Given the description of an element on the screen output the (x, y) to click on. 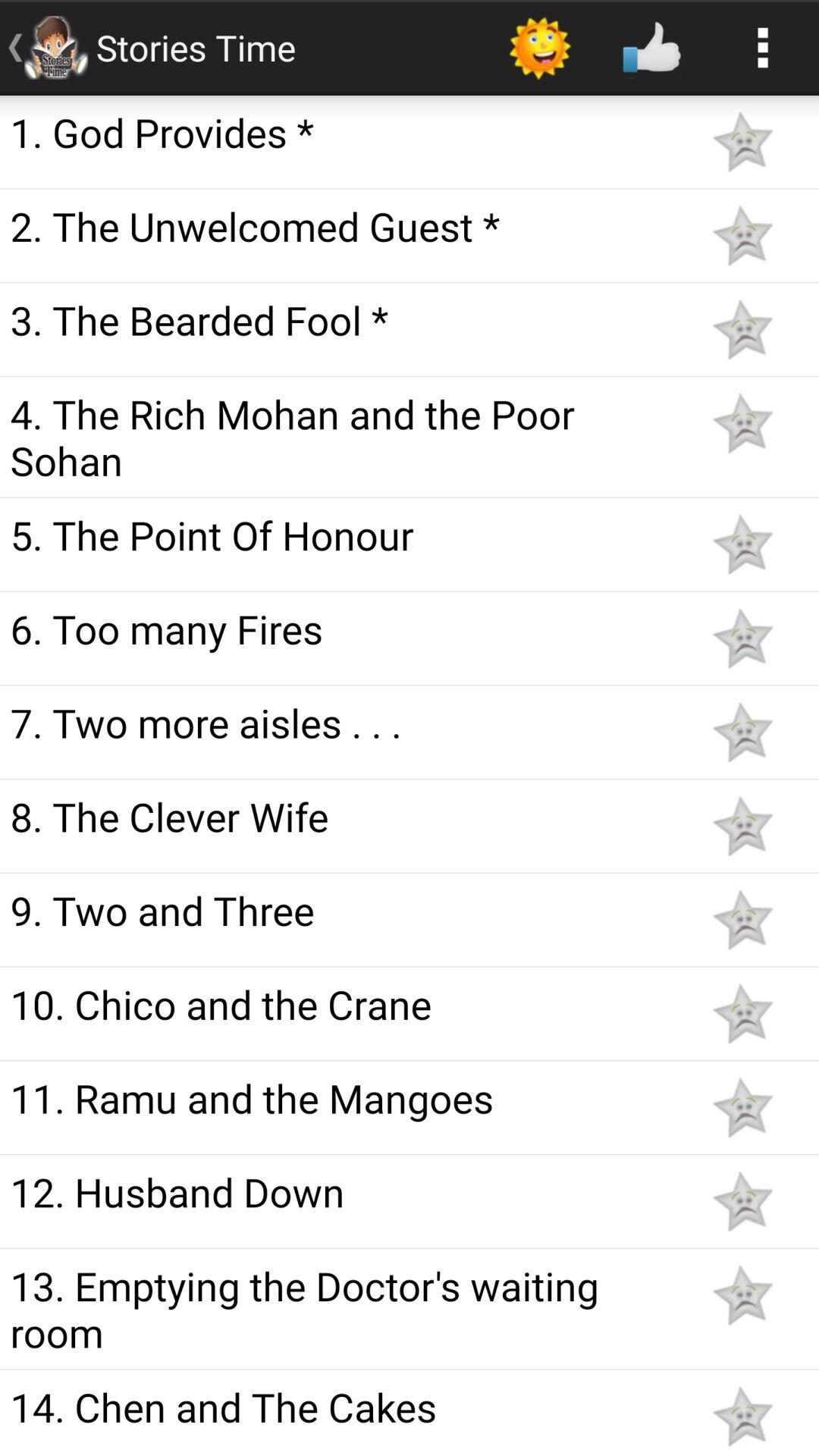
favorite (742, 825)
